Given the description of an element on the screen output the (x, y) to click on. 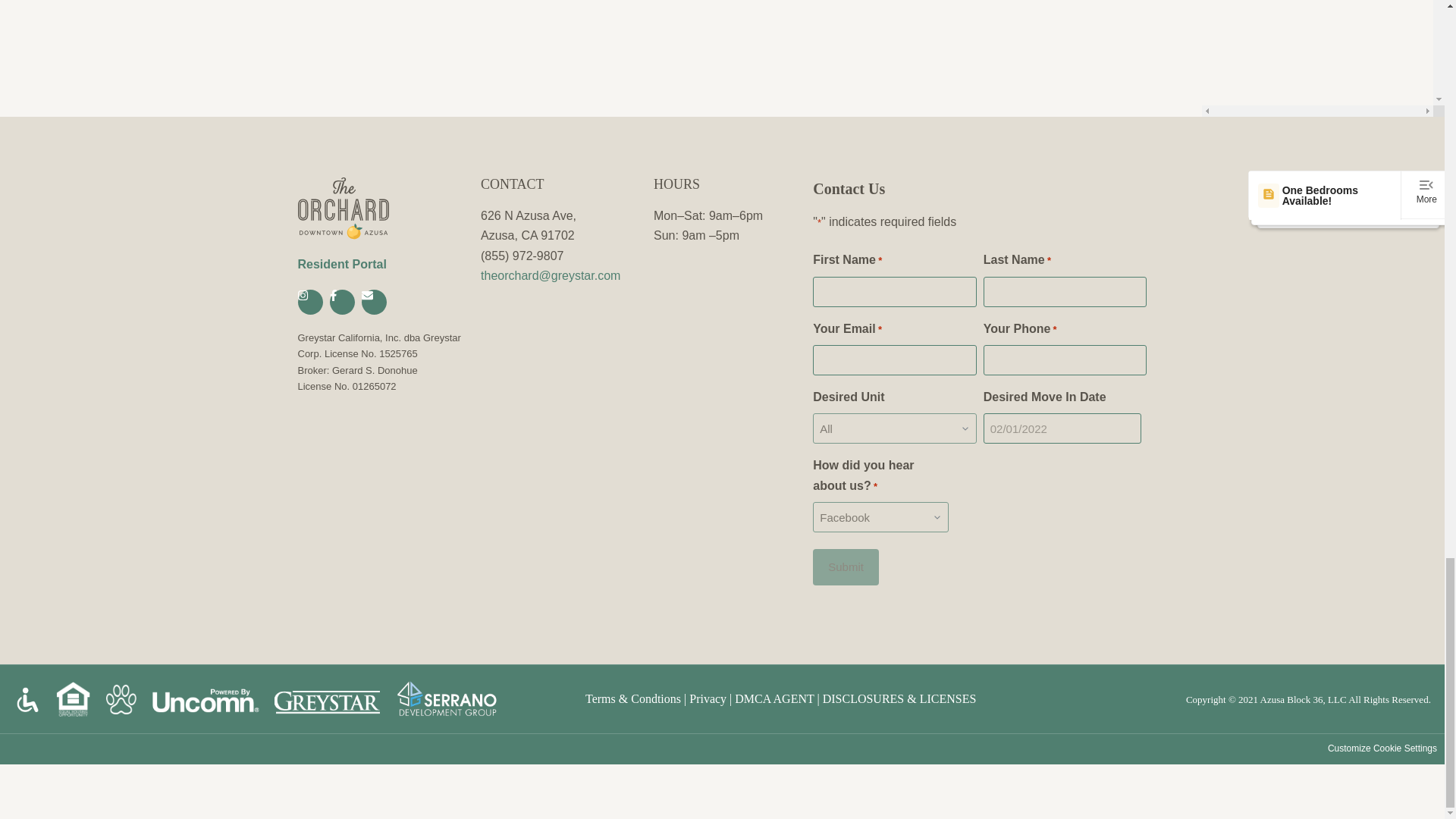
Accessible community and Greystar Fair Housing Statement (27, 699)
Pet Friendly (121, 698)
Submit (845, 566)
Privacy (707, 698)
Serrano Development (447, 699)
Uncomn Projects (205, 699)
Resident Portal (341, 264)
Greystar logo (327, 699)
Equal Housing Opportunity (72, 699)
DMCA AGENT (774, 698)
